Given the description of an element on the screen output the (x, y) to click on. 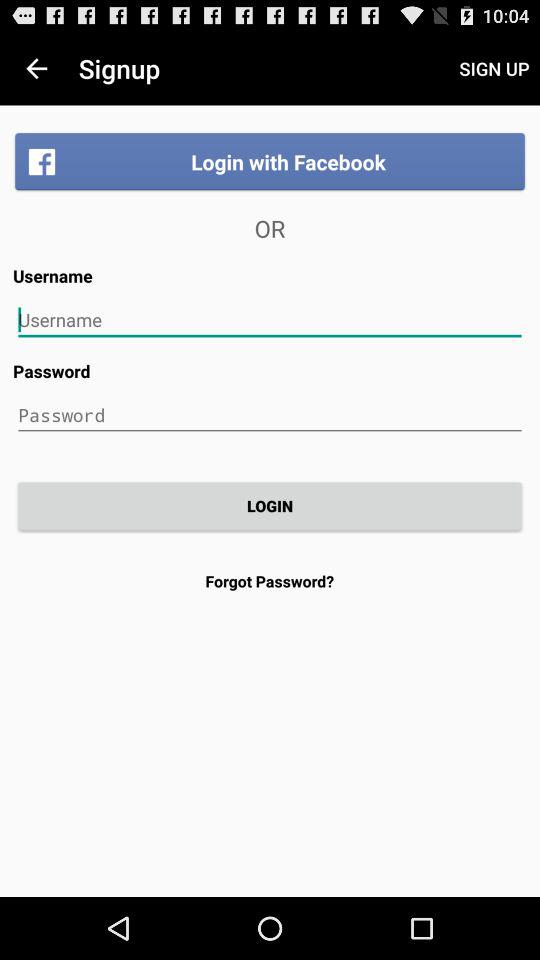
username field (269, 320)
